Given the description of an element on the screen output the (x, y) to click on. 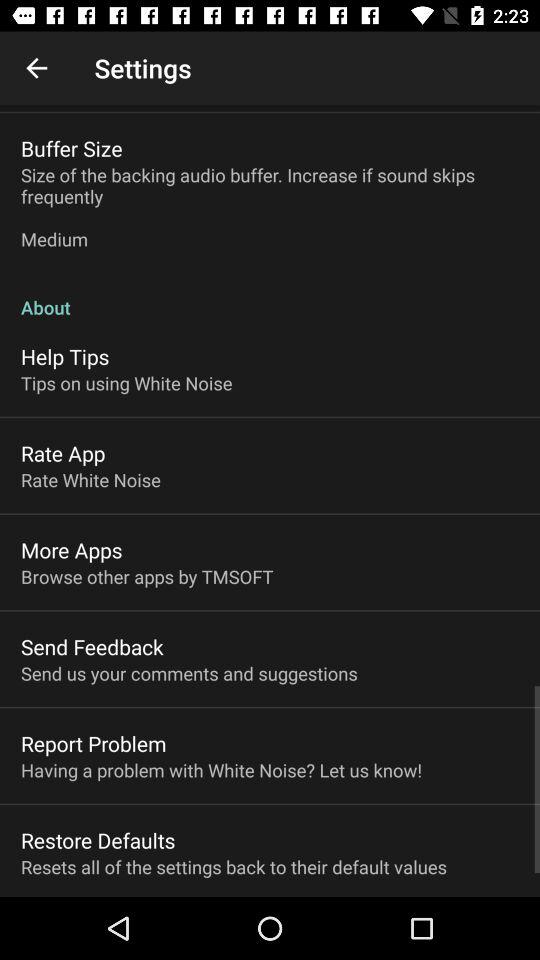
flip until report problem (93, 743)
